Given the description of an element on the screen output the (x, y) to click on. 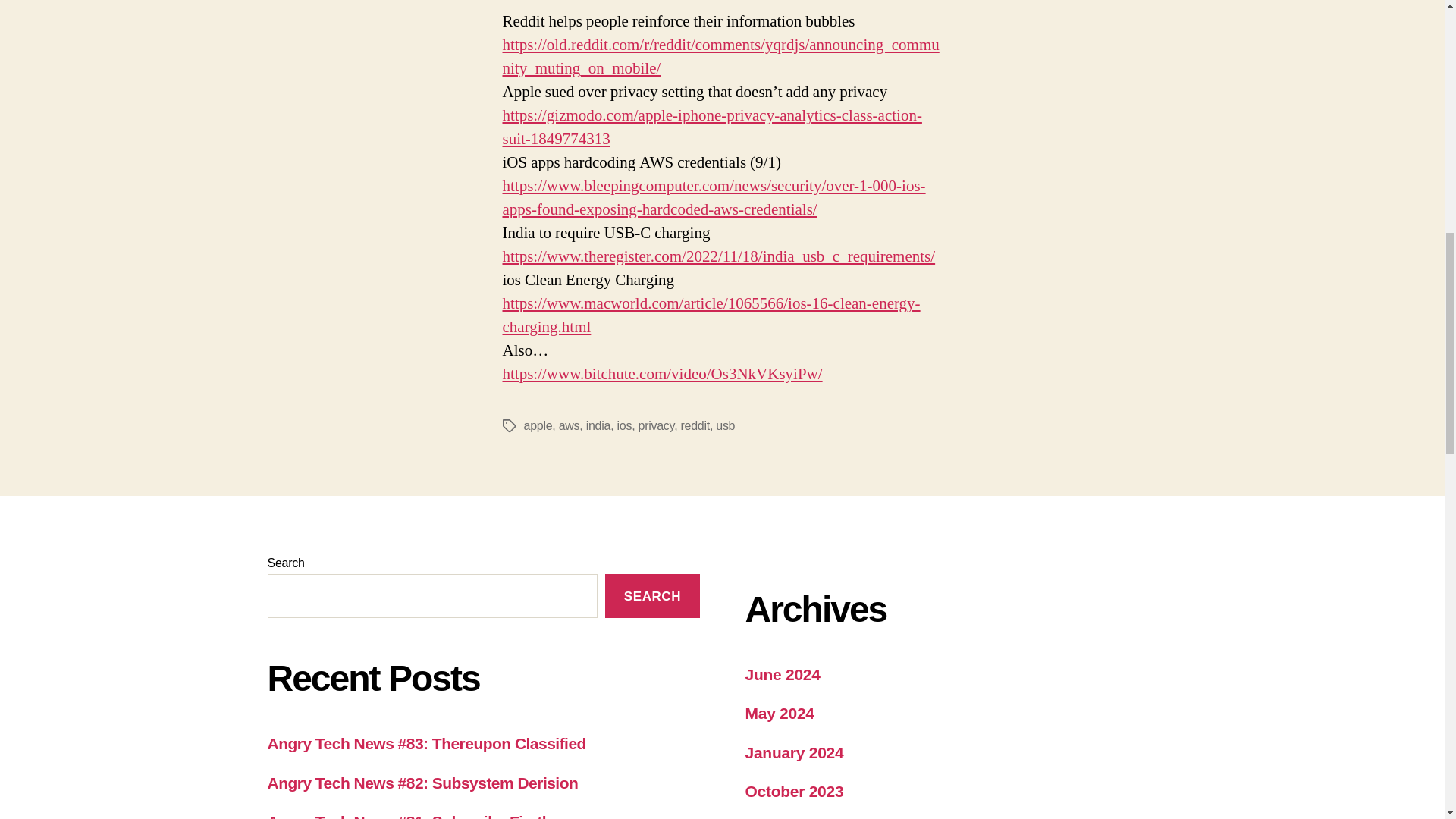
india (598, 425)
reddit (695, 425)
privacy (657, 425)
aws (569, 425)
usb (725, 425)
ios (624, 425)
SEARCH (651, 596)
apple (536, 425)
